Given the description of an element on the screen output the (x, y) to click on. 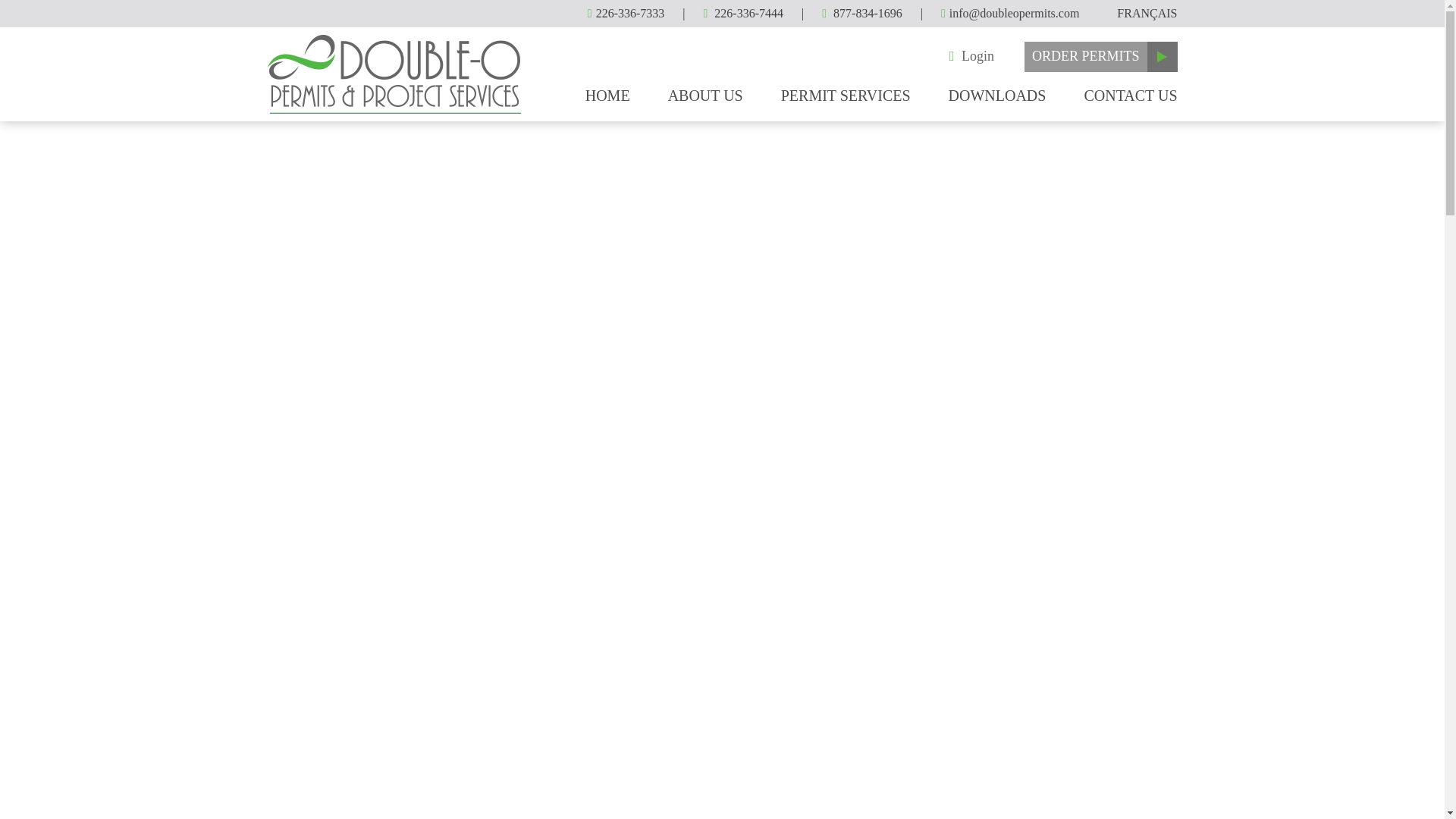
Email (1009, 12)
226-336-7444 (743, 12)
CONTACT US (1129, 95)
Phone (626, 12)
Toll Free (862, 12)
DOWNLOADS (997, 95)
Change Language (1146, 13)
Fax (743, 12)
PERMIT SERVICES (845, 95)
ORDER PERMITS (1086, 55)
